Given the description of an element on the screen output the (x, y) to click on. 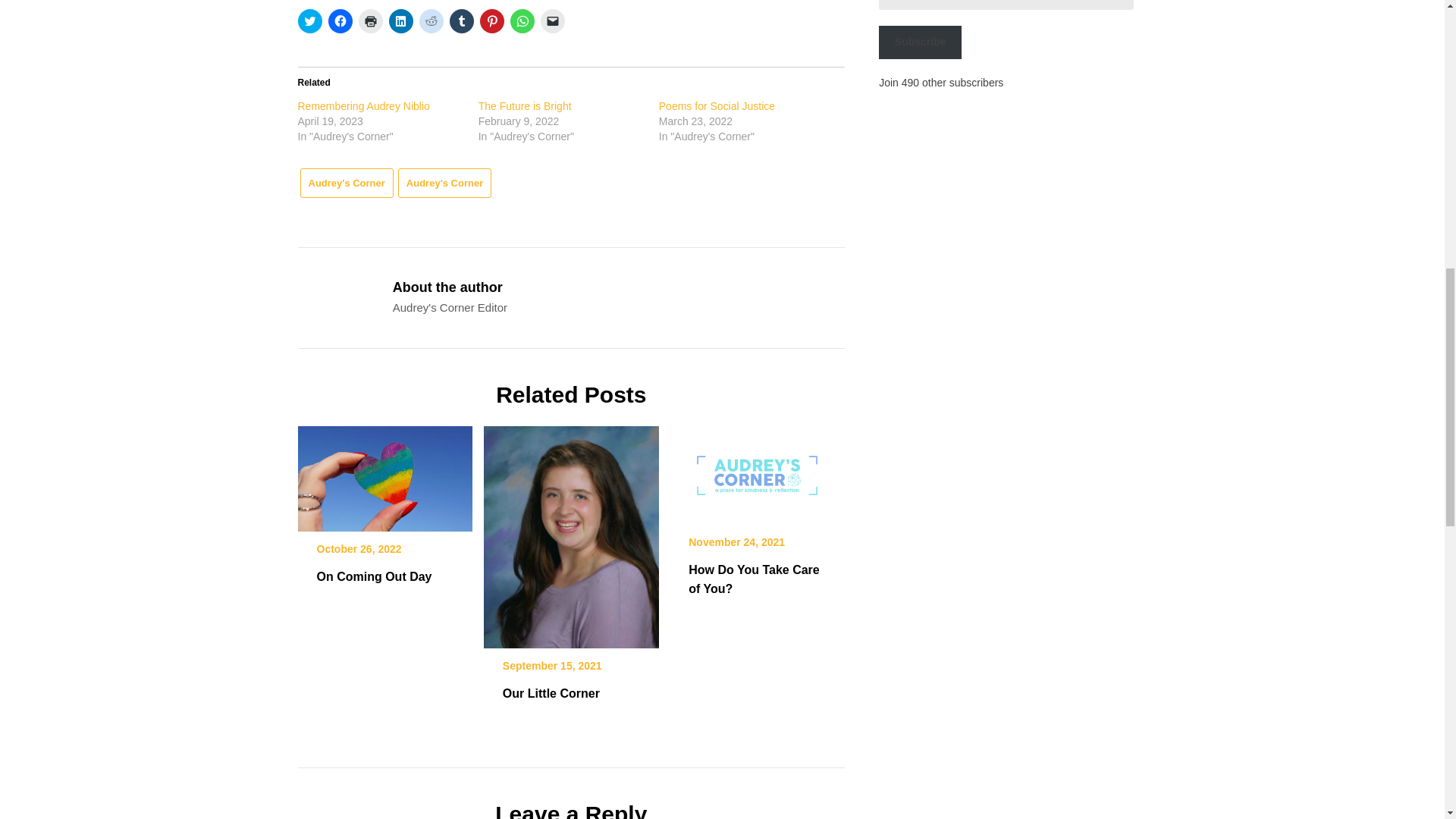
Poems for Social Justice (716, 105)
Click to email a link to a friend (552, 21)
Our Little Corner (550, 693)
Remembering Audrey Niblio (363, 105)
Audrey's Corner (444, 183)
Subscribe (919, 41)
Audrey's Corner (346, 183)
Click to share on Twitter (309, 21)
The Future is Bright (525, 105)
Click to share on Tumblr (460, 21)
